Given the description of an element on the screen output the (x, y) to click on. 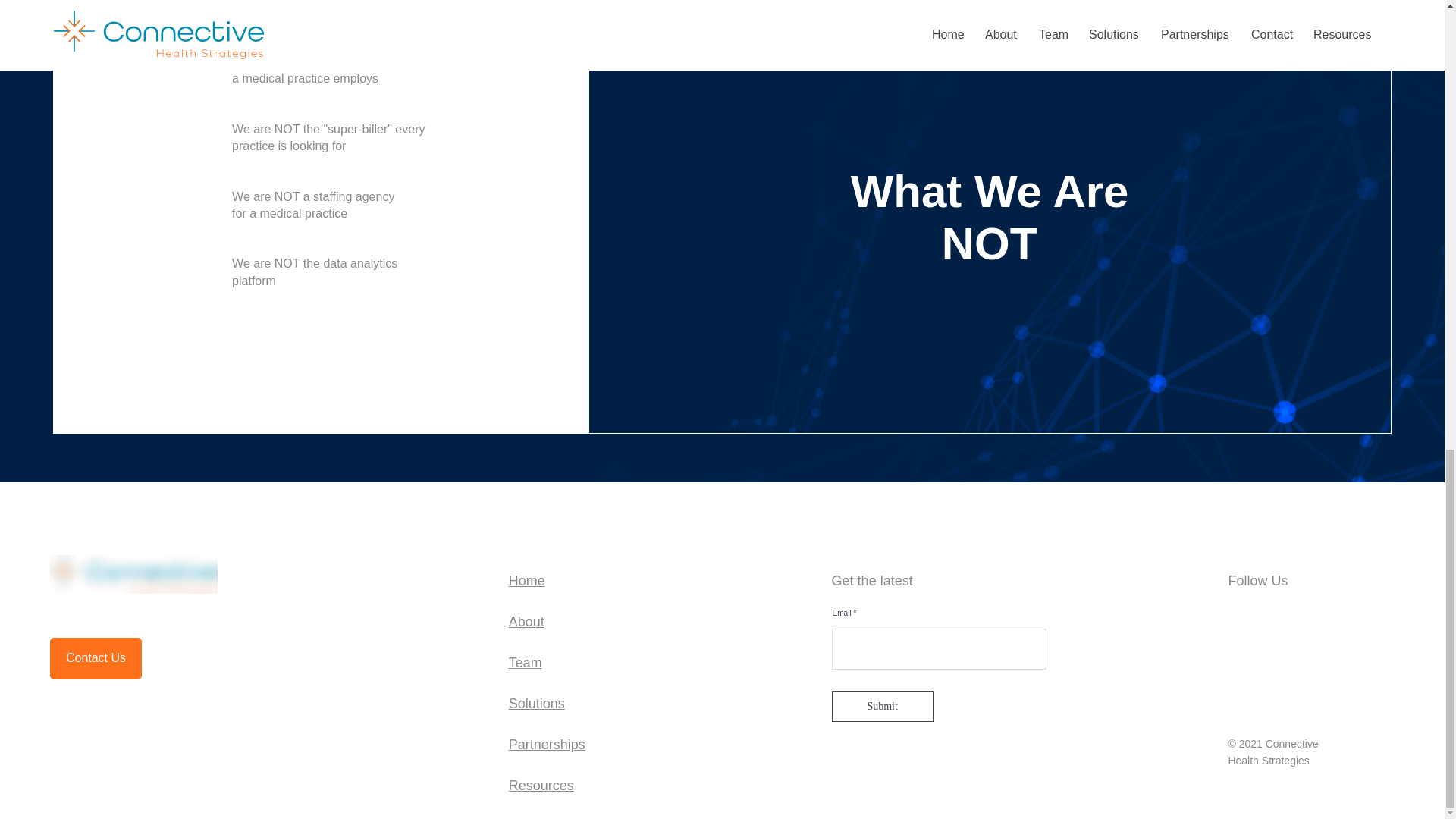
Contact Us (95, 658)
Submit (882, 706)
Resources (540, 785)
Home (526, 580)
Partnerships (546, 744)
Solutions (536, 703)
Team (524, 662)
About (526, 621)
